Given the description of an element on the screen output the (x, y) to click on. 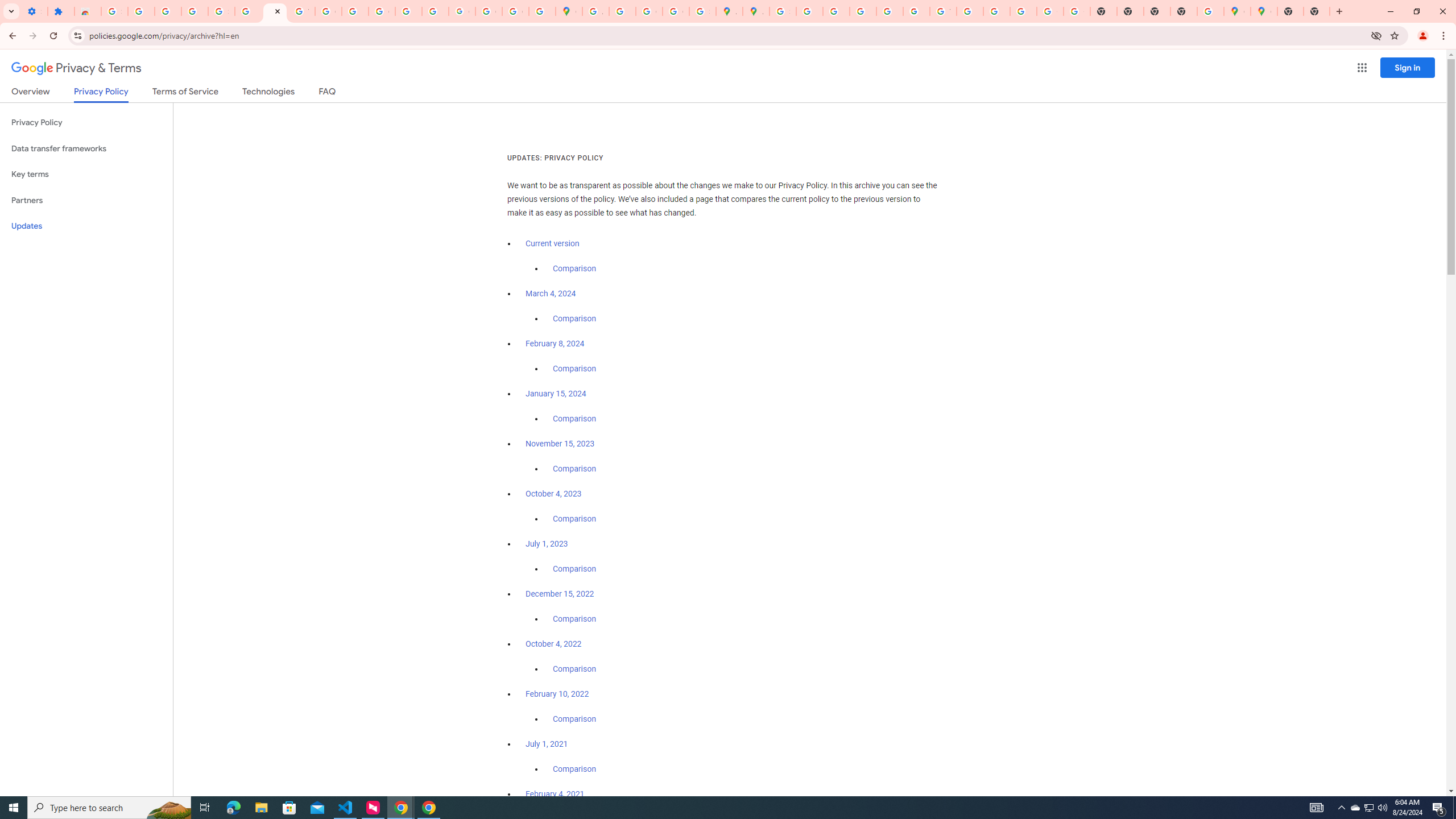
Safety in Our Products - Google Safety Center (702, 11)
Use Google Maps in Space - Google Maps Help (1210, 11)
New Tab (1290, 11)
Current version (552, 243)
Settings - On startup (34, 11)
New Tab (1183, 11)
July 1, 2023 (546, 543)
Google Maps (1236, 11)
